Given the description of an element on the screen output the (x, y) to click on. 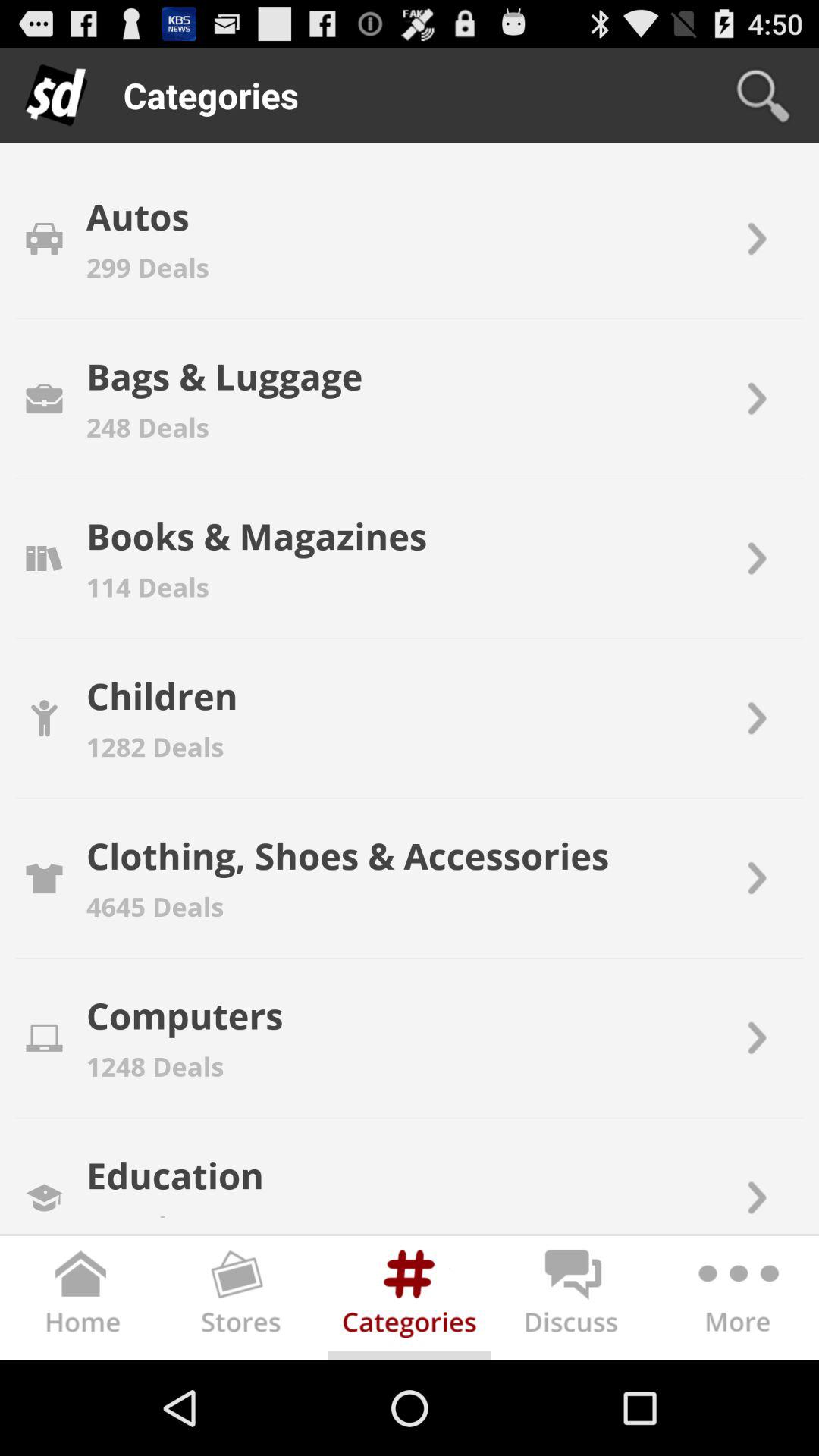
choose app above the 299 deals icon (137, 216)
